Given the description of an element on the screen output the (x, y) to click on. 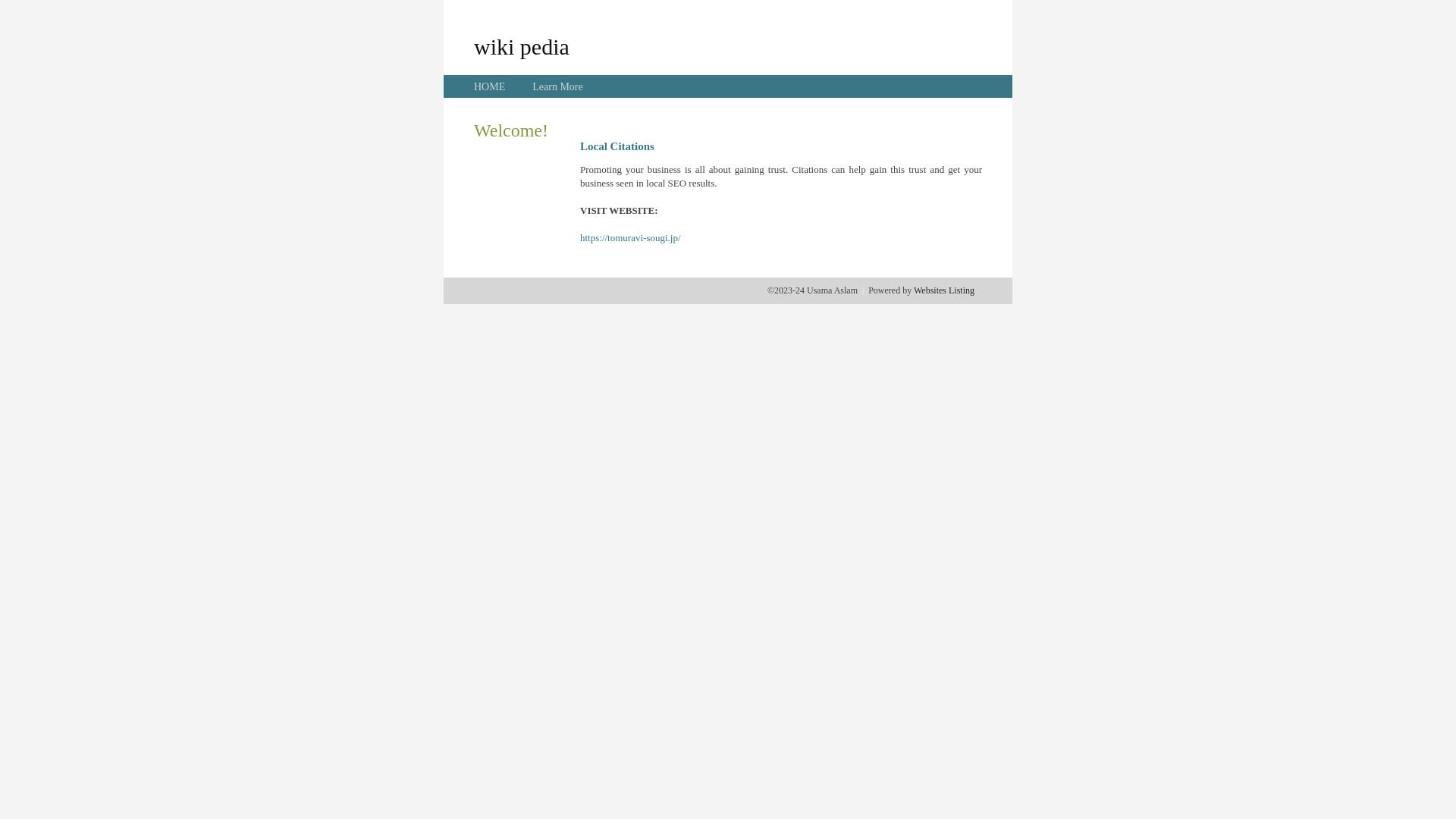
Websites Listing Element type: text (943, 290)
https://tomuravi-sougi.jp/ Element type: text (630, 237)
Learn More Element type: text (557, 86)
HOME Element type: text (489, 86)
wiki pedia Element type: text (521, 46)
